Given the description of an element on the screen output the (x, y) to click on. 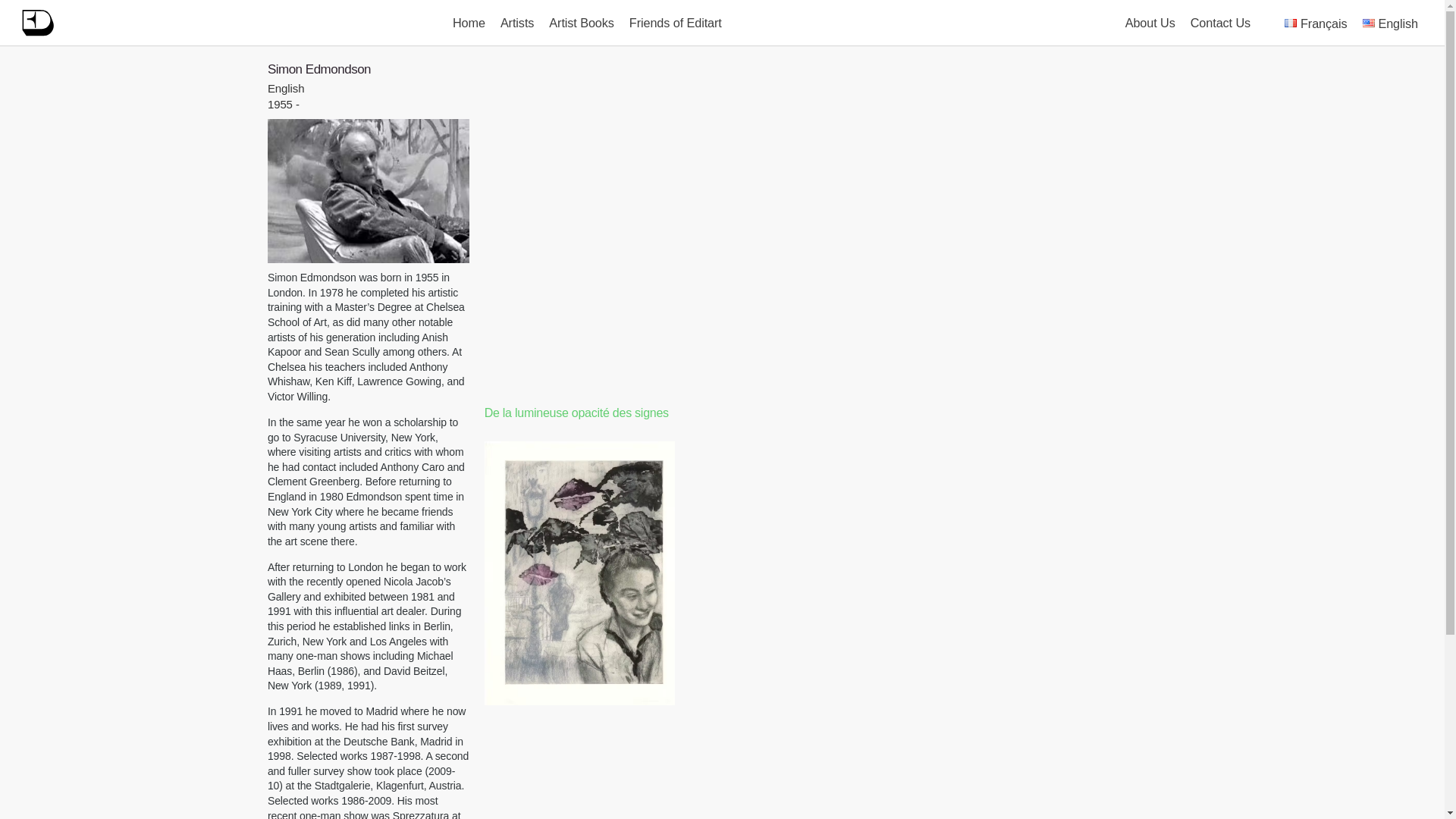
About Us (1150, 22)
English (1390, 22)
Artist Books (581, 22)
Home (469, 22)
Artists (517, 22)
Friends of Editart (675, 22)
Contact Us (1219, 22)
